Given the description of an element on the screen output the (x, y) to click on. 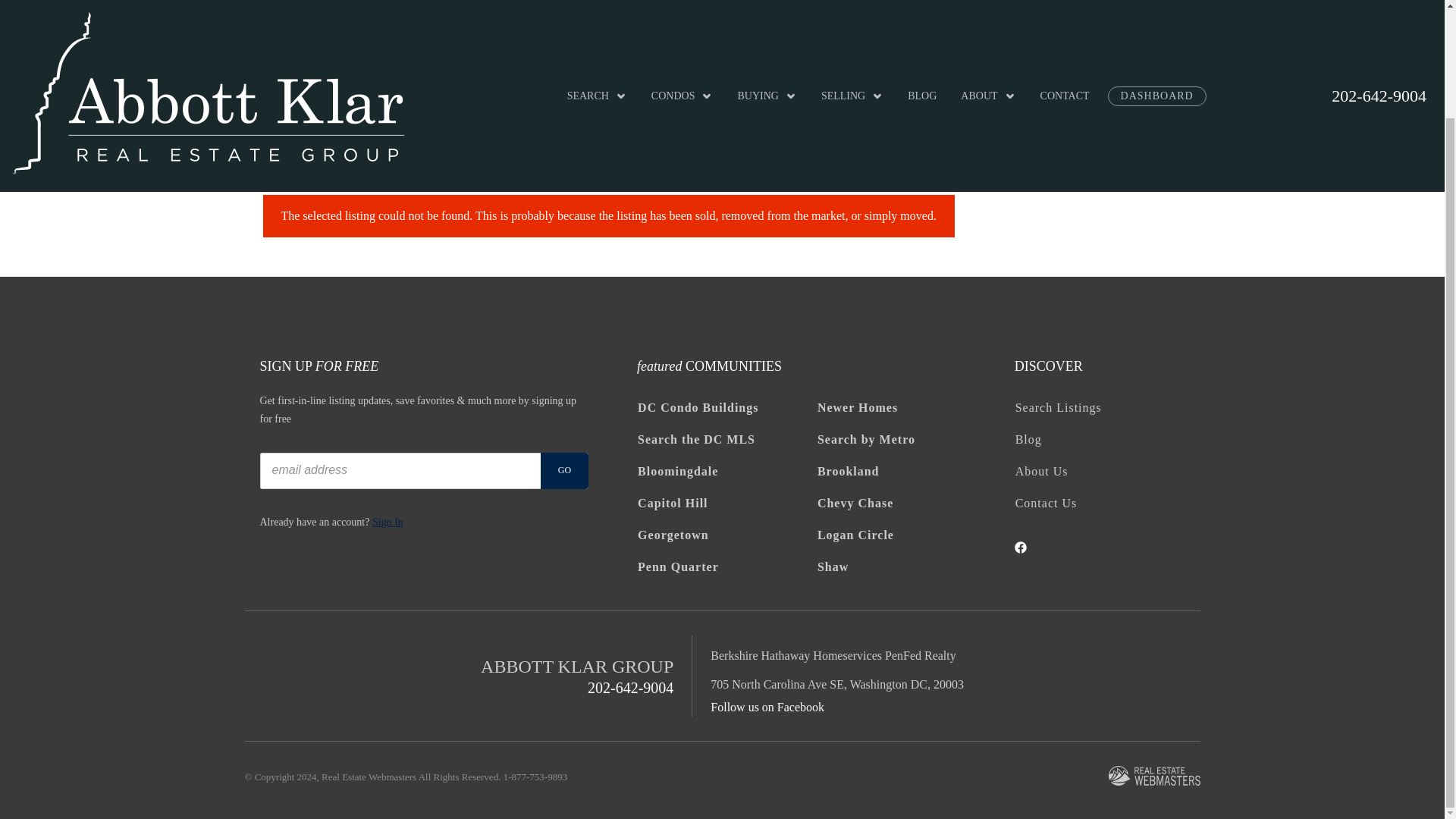
GO (564, 470)
DC Condos (726, 408)
Real Estate Webmasters (1153, 776)
Chevy Chase (905, 503)
Brookland (905, 471)
Site Logo (207, 23)
Capitol Hill (726, 503)
Newer Homes (905, 408)
Search by Metro Station (905, 439)
Sign In (387, 521)
